Given the description of an element on the screen output the (x, y) to click on. 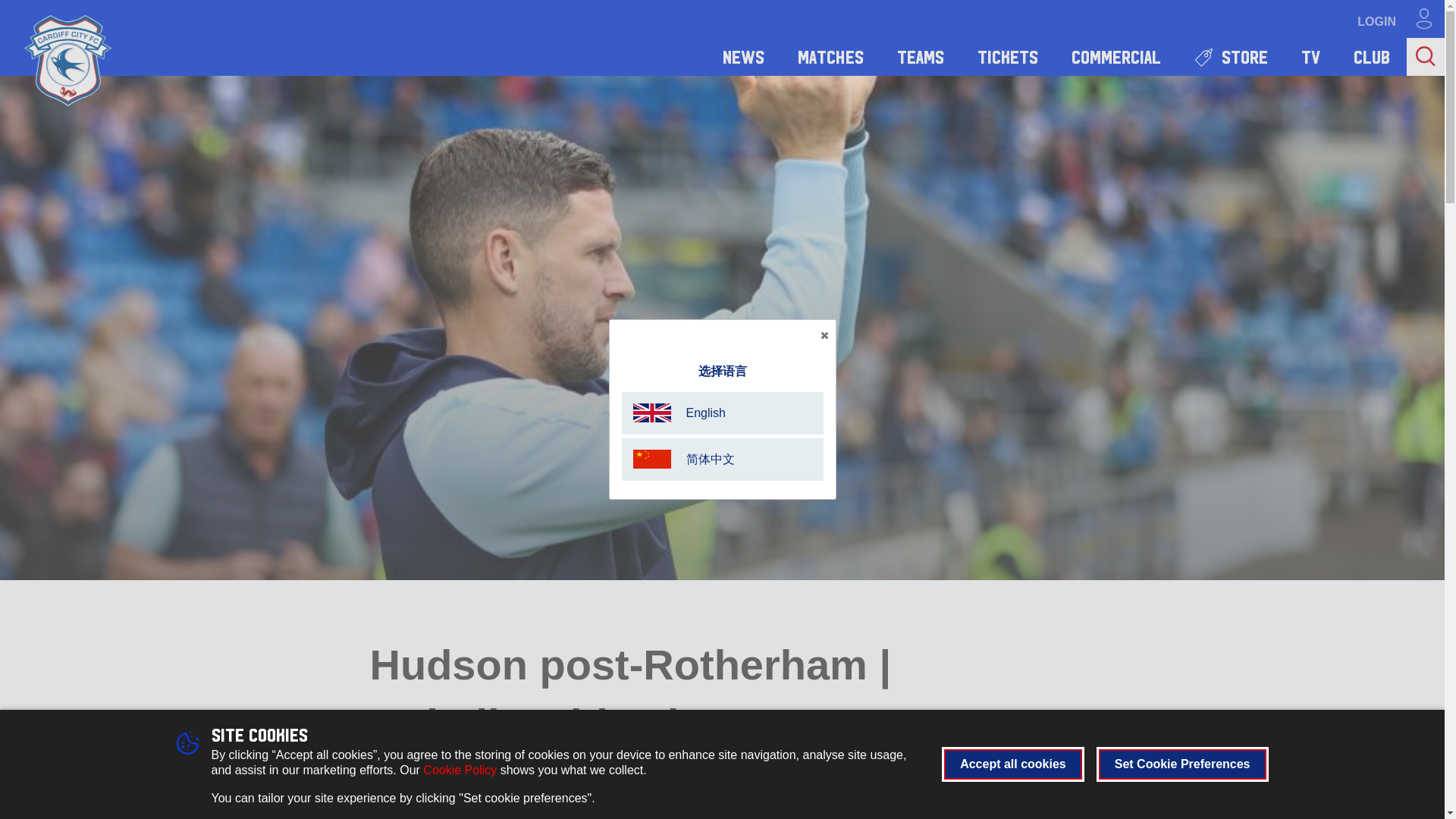
MATCHES (830, 56)
STORE (1230, 56)
COMMERCIAL (1115, 56)
NEWS (743, 56)
TEAMS (920, 56)
Close (823, 335)
3rd party ad content (1167, 816)
TICKETS (1007, 56)
